Given the description of an element on the screen output the (x, y) to click on. 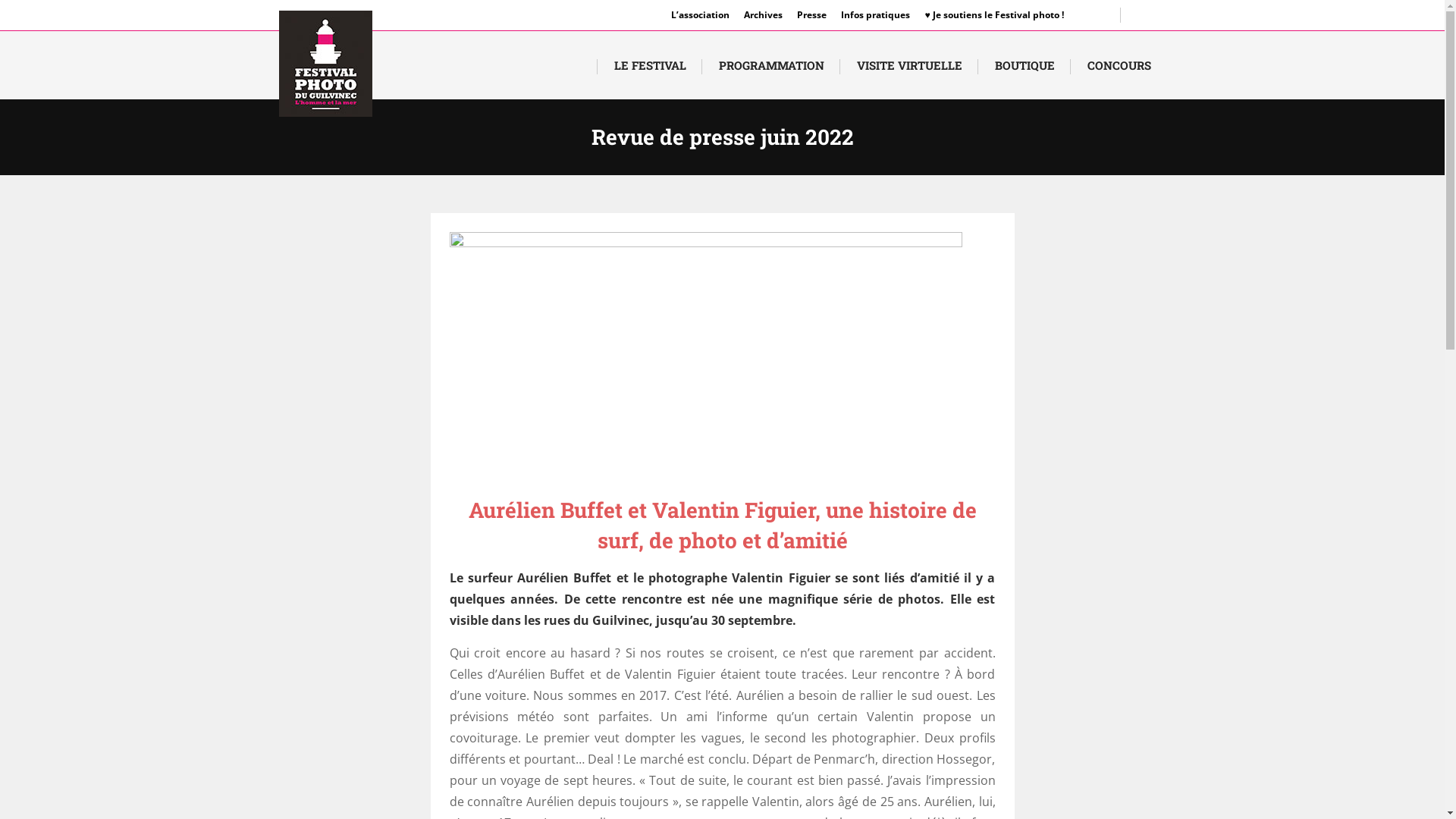
BOUTIQUE Element type: text (1024, 65)
Infos pratiques Element type: text (875, 14)
Archives Element type: text (762, 14)
VISITE VIRTUELLE Element type: text (909, 65)
Presse Element type: text (811, 14)
CONCOURS Element type: text (1119, 65)
LE FESTIVAL Element type: text (650, 65)
PROGRAMMATION Element type: text (771, 65)
